Given the description of an element on the screen output the (x, y) to click on. 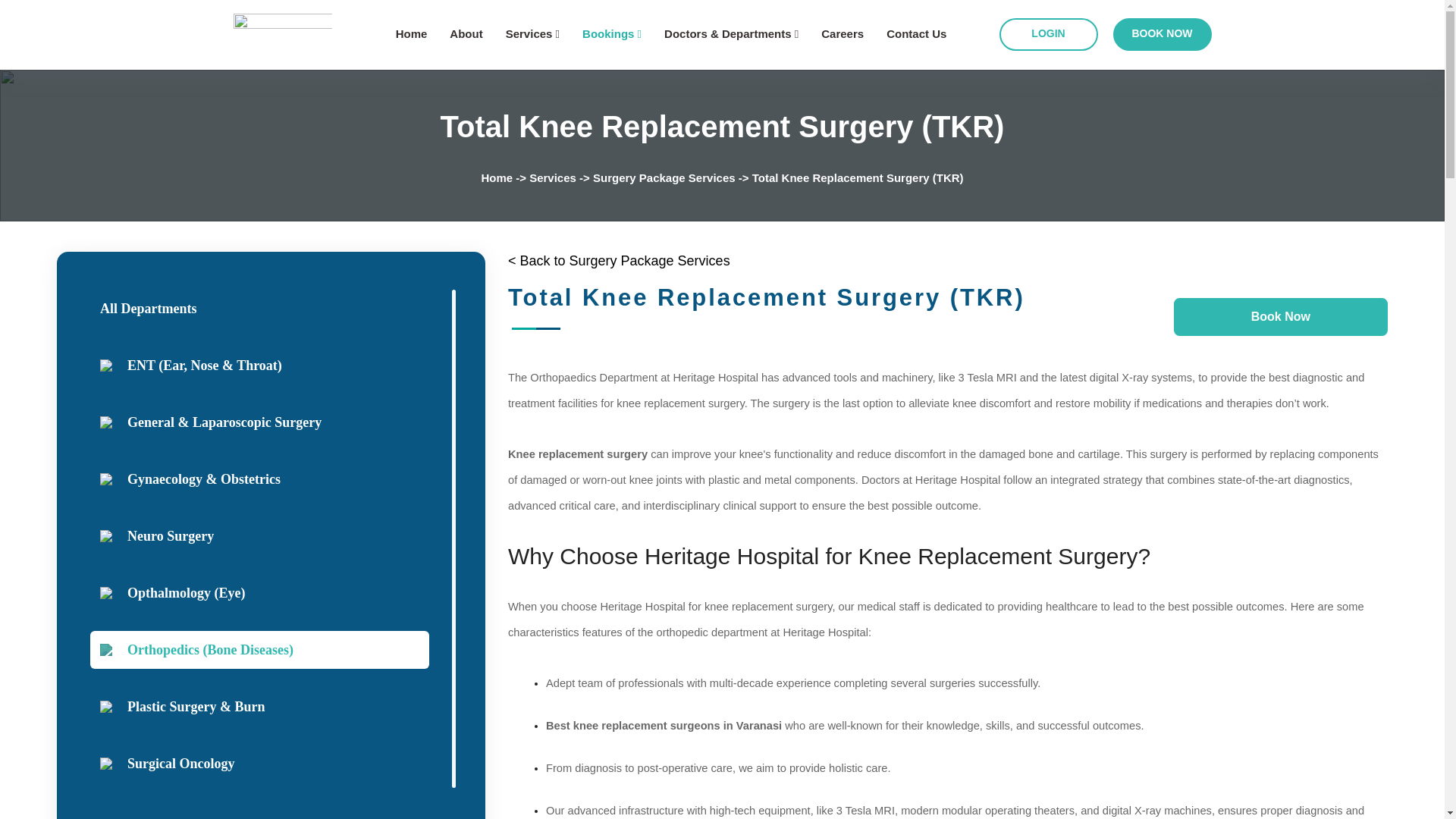
About (465, 33)
Home (412, 33)
Bookings (612, 33)
Services (532, 33)
